Given the description of an element on the screen output the (x, y) to click on. 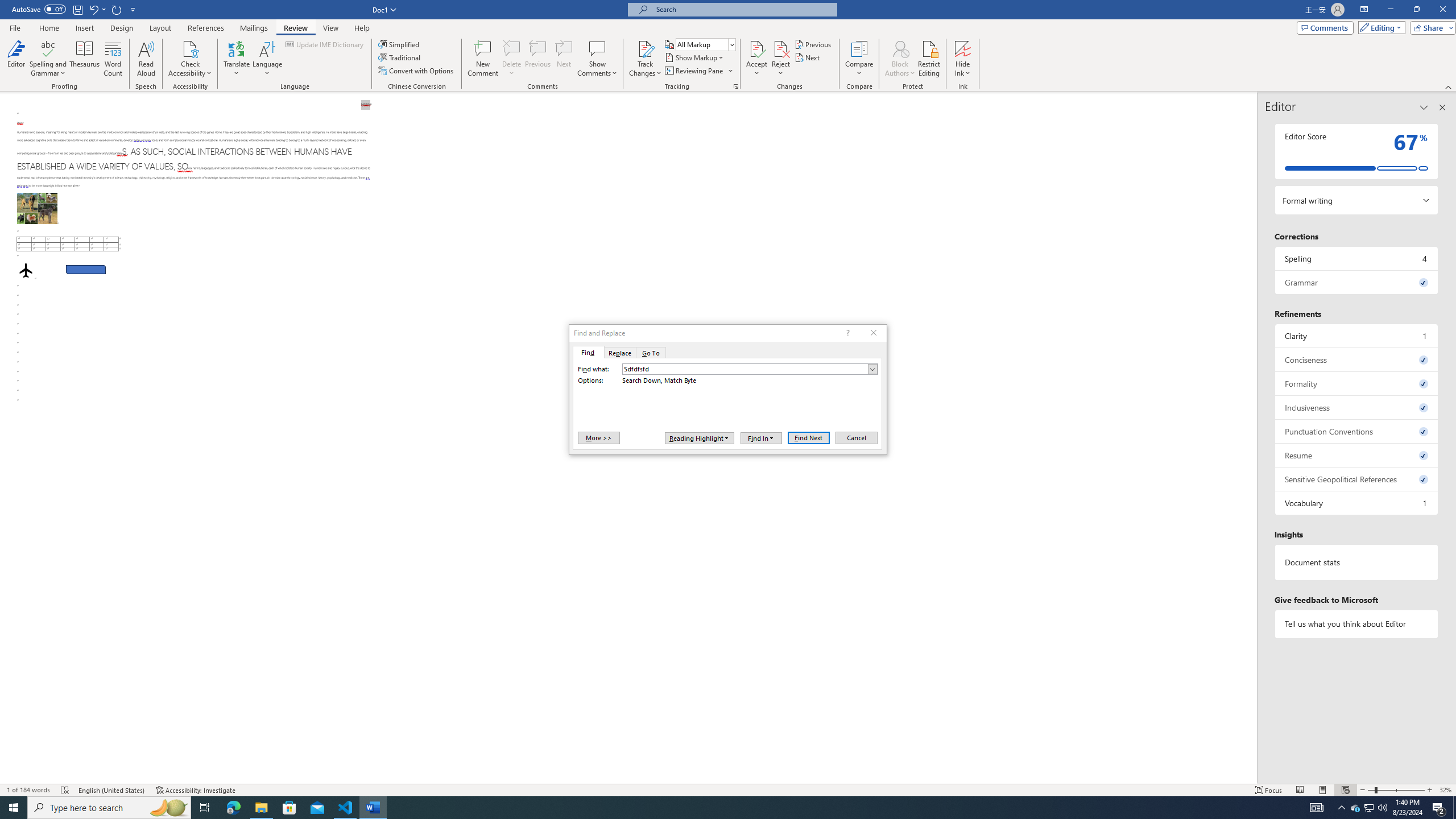
New Comment (482, 58)
Track Changes (644, 58)
Show Markup (695, 56)
Block Authors (900, 48)
Clarity, 1 issue. Press space or enter to review items. (1356, 335)
Reviewing Pane (694, 69)
Reviewing Pane (698, 69)
